Given the description of an element on the screen output the (x, y) to click on. 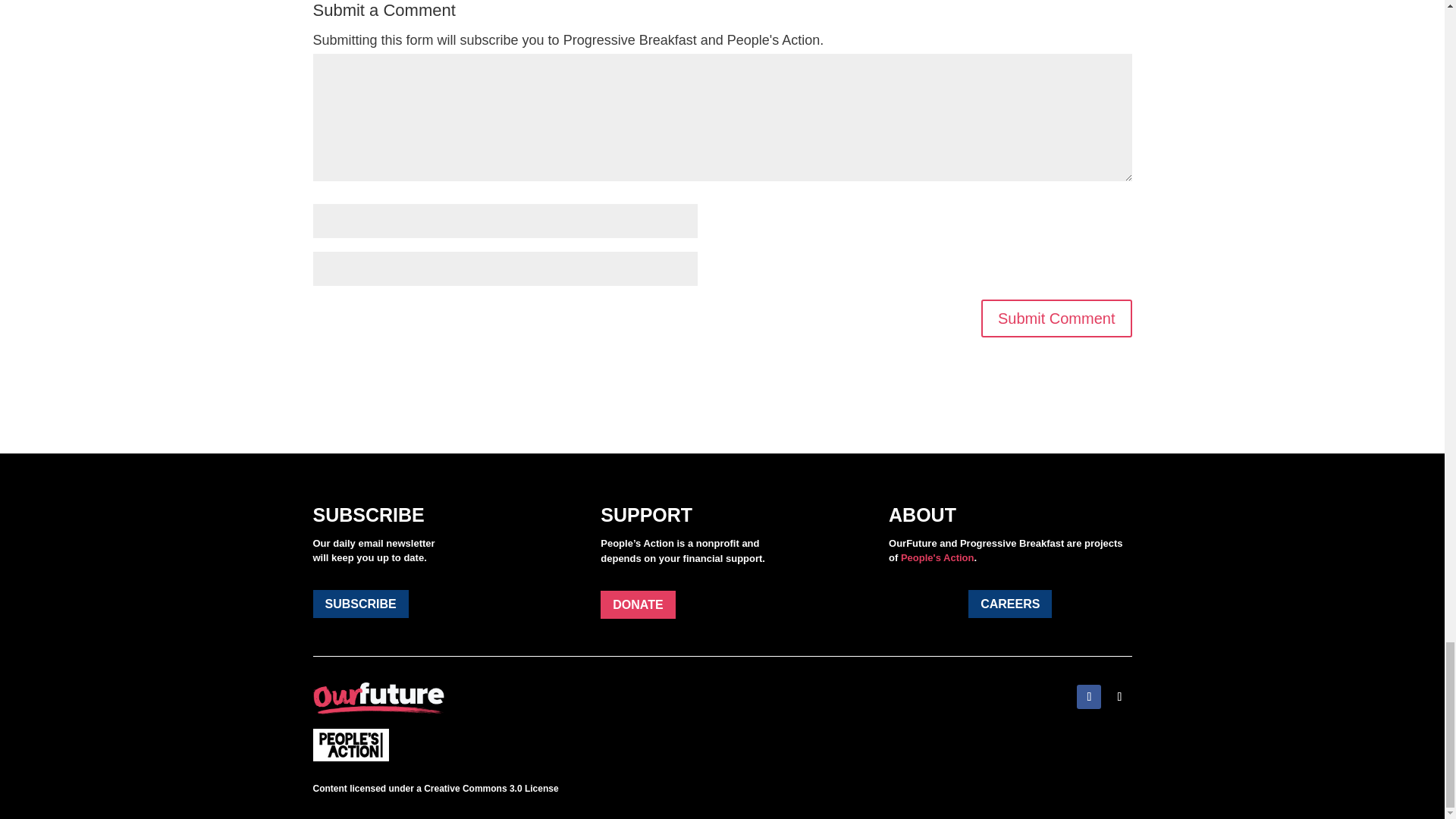
Follow on X (1118, 696)
Submit Comment (1056, 318)
Follow on Facebook (1088, 696)
